Given the description of an element on the screen output the (x, y) to click on. 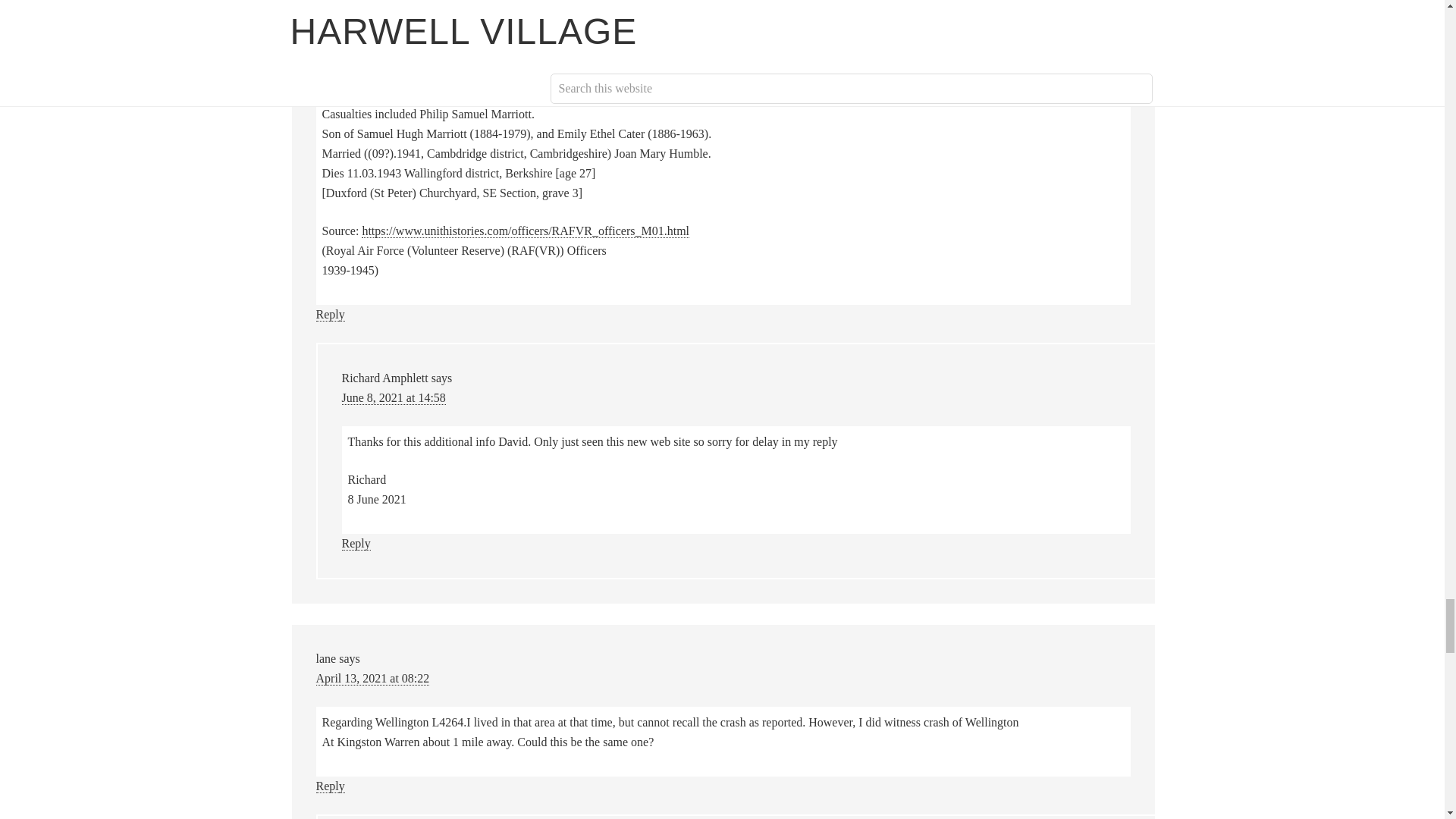
Reply (354, 543)
Reply (329, 786)
June 8, 2021 at 14:58 (392, 397)
April 13, 2021 at 08:22 (372, 678)
Reply (329, 314)
